Given the description of an element on the screen output the (x, y) to click on. 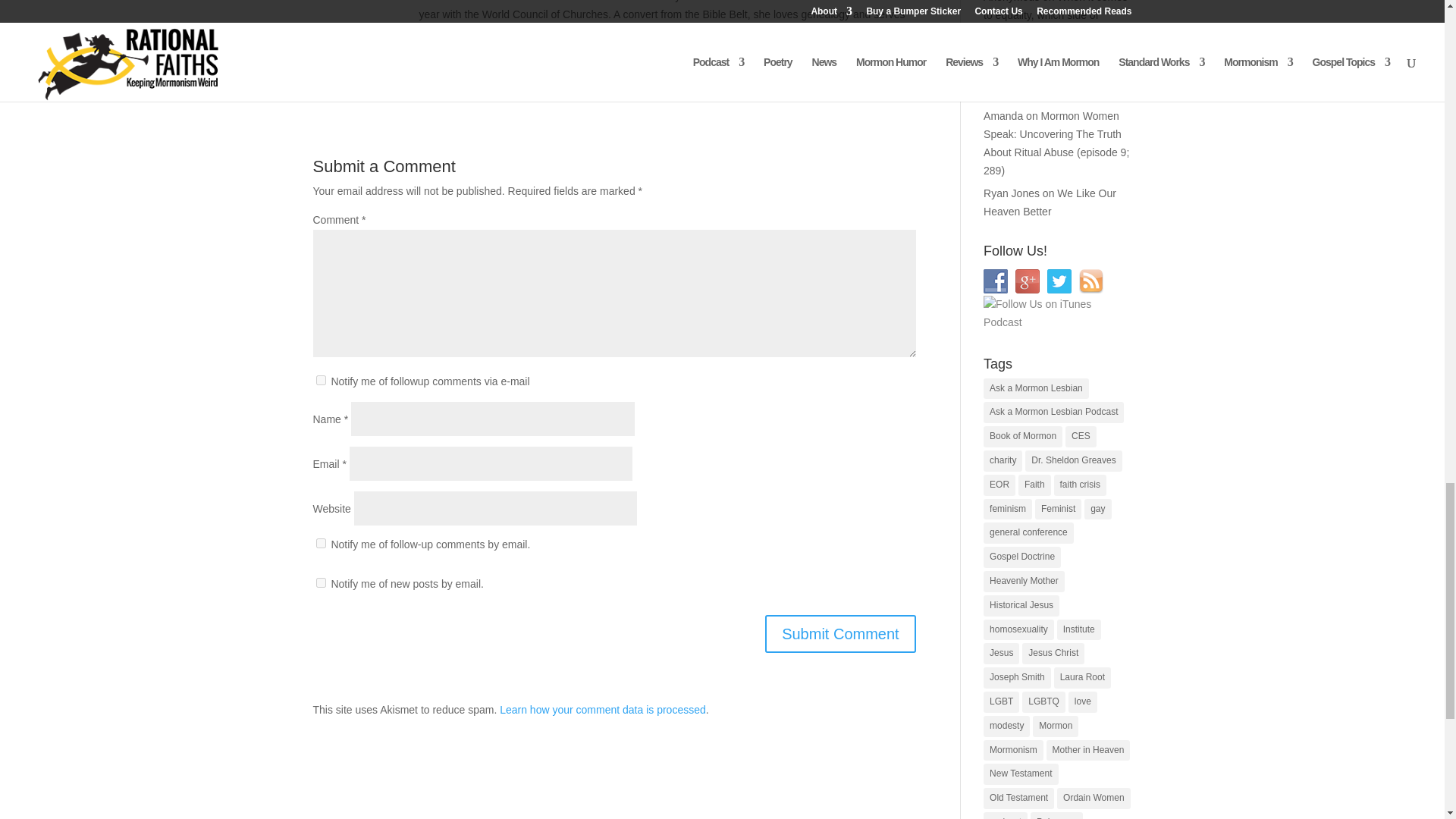
Follow Us on Twitter (1058, 281)
Posts by Michelle Wiener (407, 78)
subscribe (319, 542)
subscribe (319, 583)
Follow Us on RSS (1090, 281)
Submit Comment (840, 633)
Follow Us on Facebook (995, 281)
subscribe (319, 379)
Follow Us on iTunes Podcast (1054, 313)
